Given the description of an element on the screen output the (x, y) to click on. 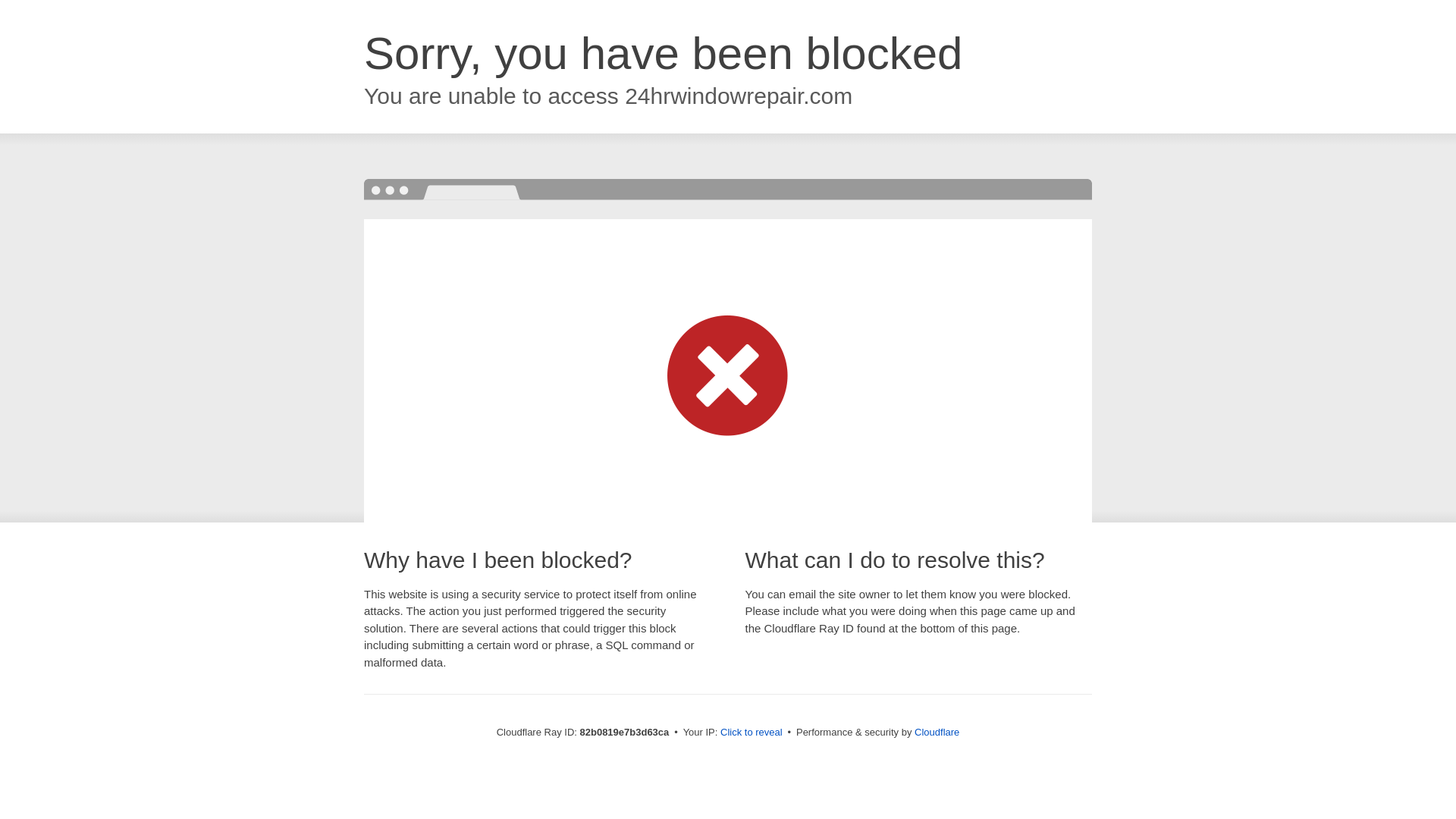
Cloudflare Element type: text (936, 731)
Click to reveal Element type: text (751, 732)
